Given the description of an element on the screen output the (x, y) to click on. 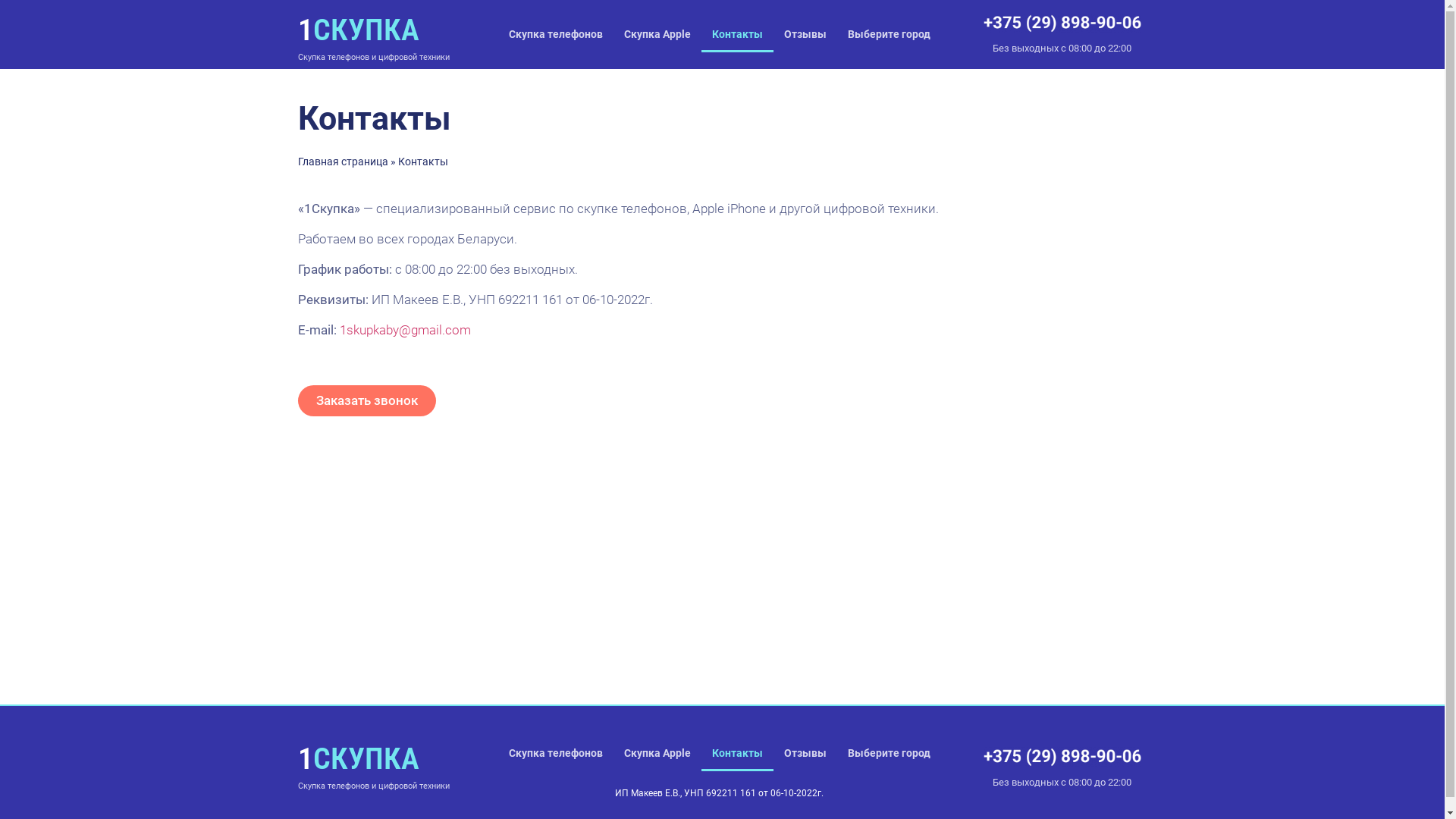
1skupkaby@gmail.com Element type: text (404, 329)
